Given the description of an element on the screen output the (x, y) to click on. 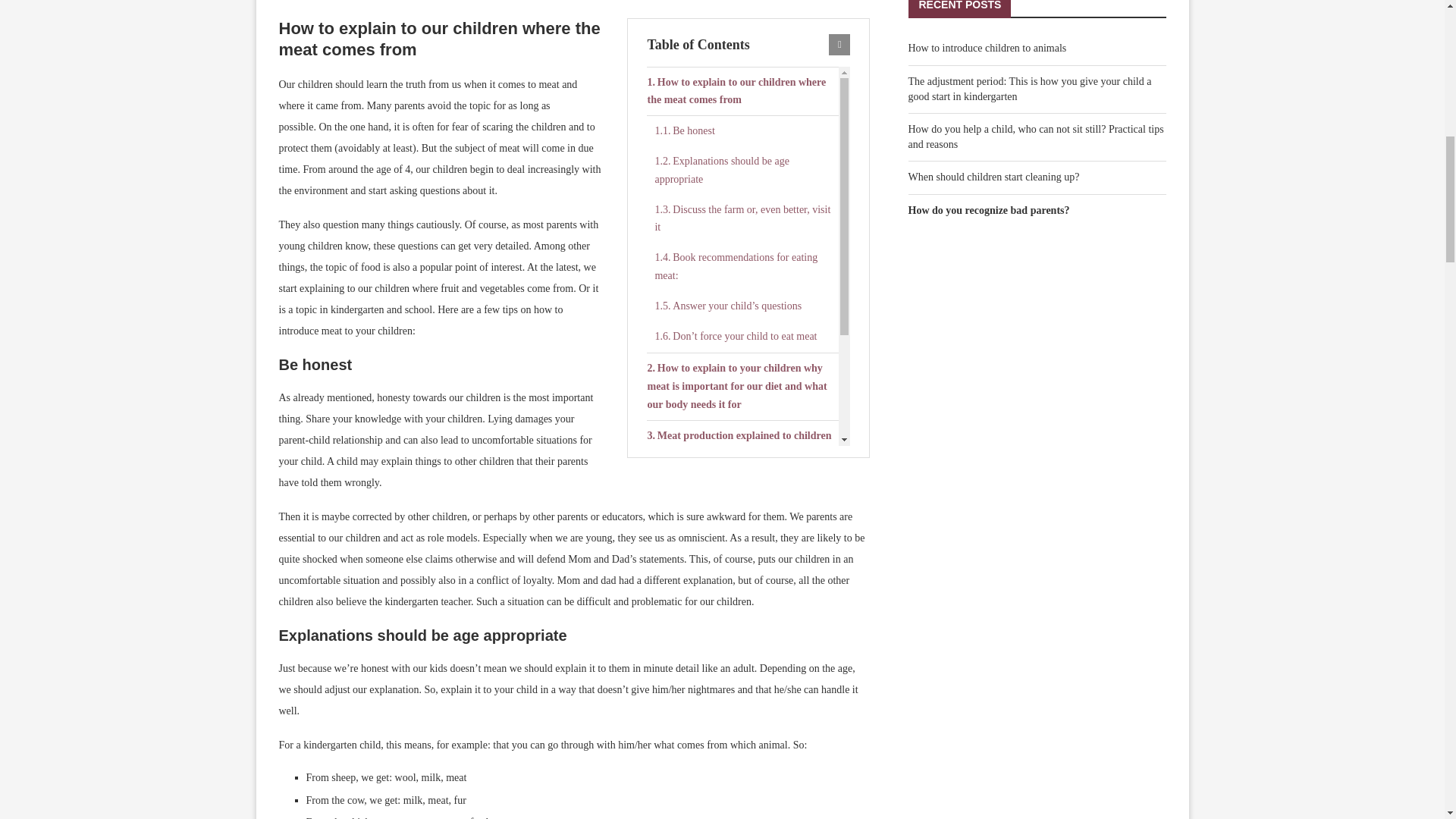
Explanations should be age appropriate (745, 170)
Discuss the farm or, even better, visit it (745, 218)
Kindergarten and the topic of meat (742, 467)
Be honest (745, 131)
How to explain to our children where the meat comes from (742, 91)
Meat production explained to children (742, 435)
Discuss the farm or, even better, visit it (745, 218)
Explanations should be age appropriate (745, 170)
Be honest (745, 131)
